Given the description of an element on the screen output the (x, y) to click on. 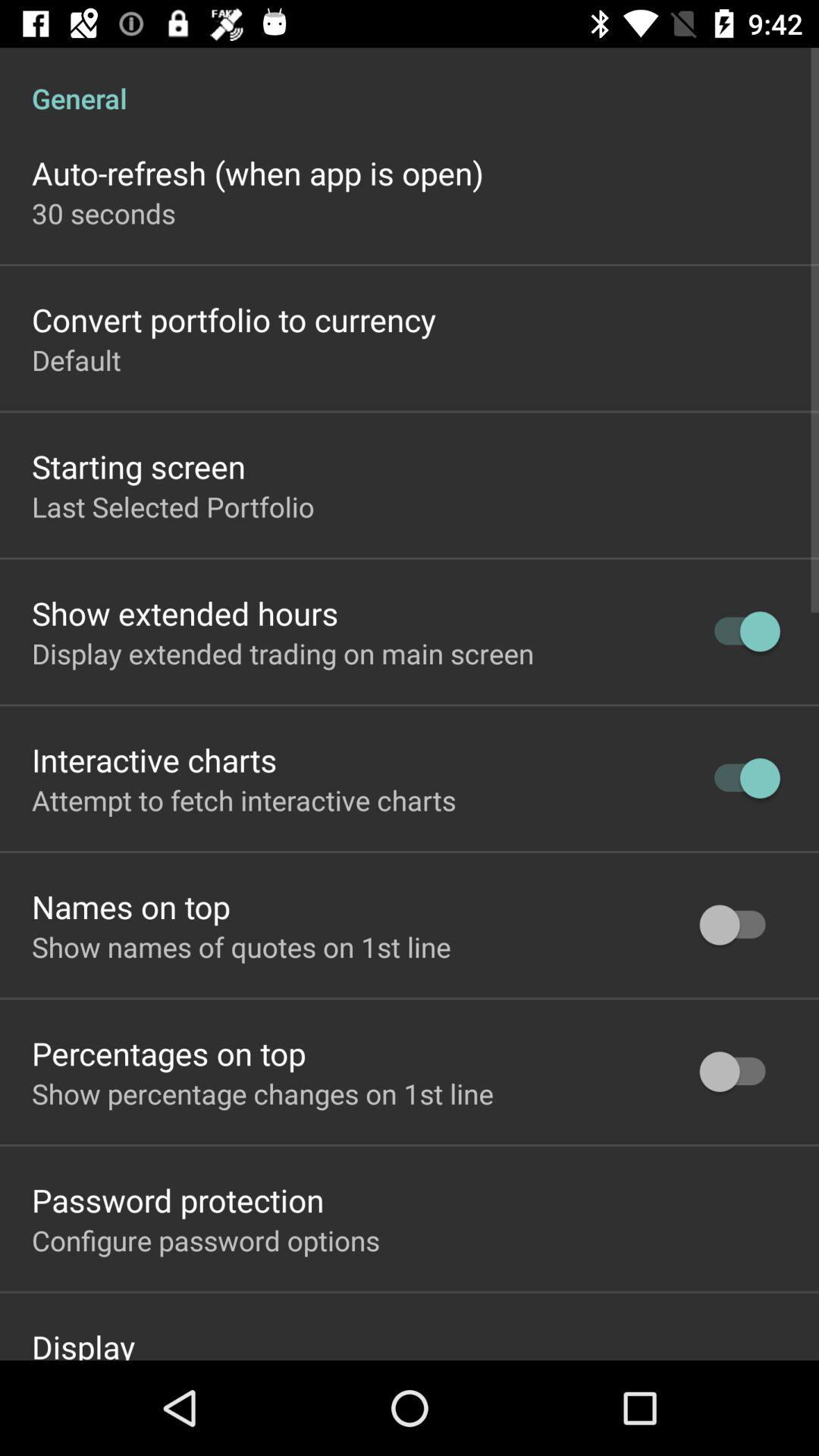
swipe to show percentage changes icon (262, 1093)
